Given the description of an element on the screen output the (x, y) to click on. 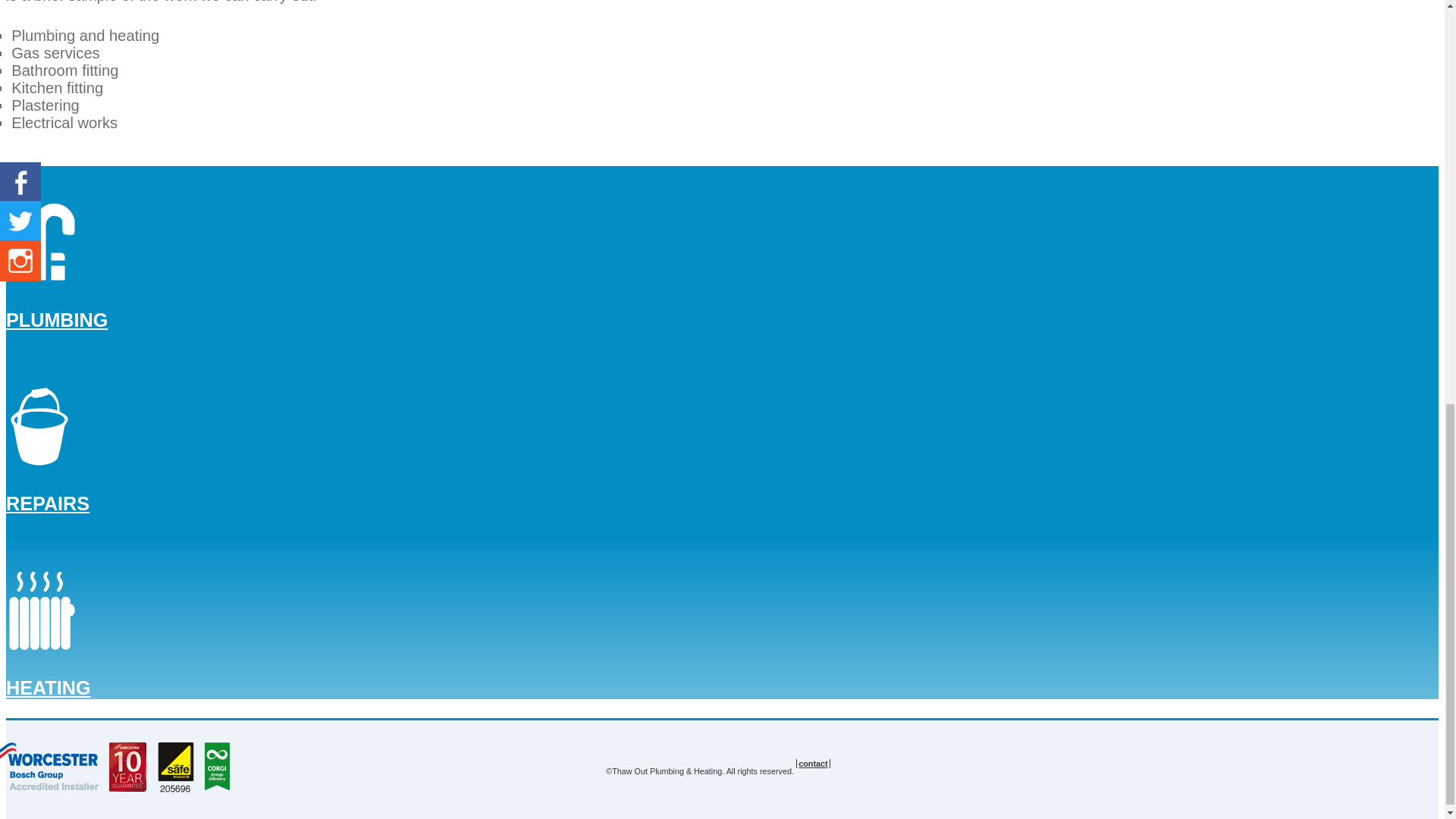
contact (812, 763)
PLUMBING (56, 319)
REPAIRS (46, 503)
HEATING (47, 687)
